Given the description of an element on the screen output the (x, y) to click on. 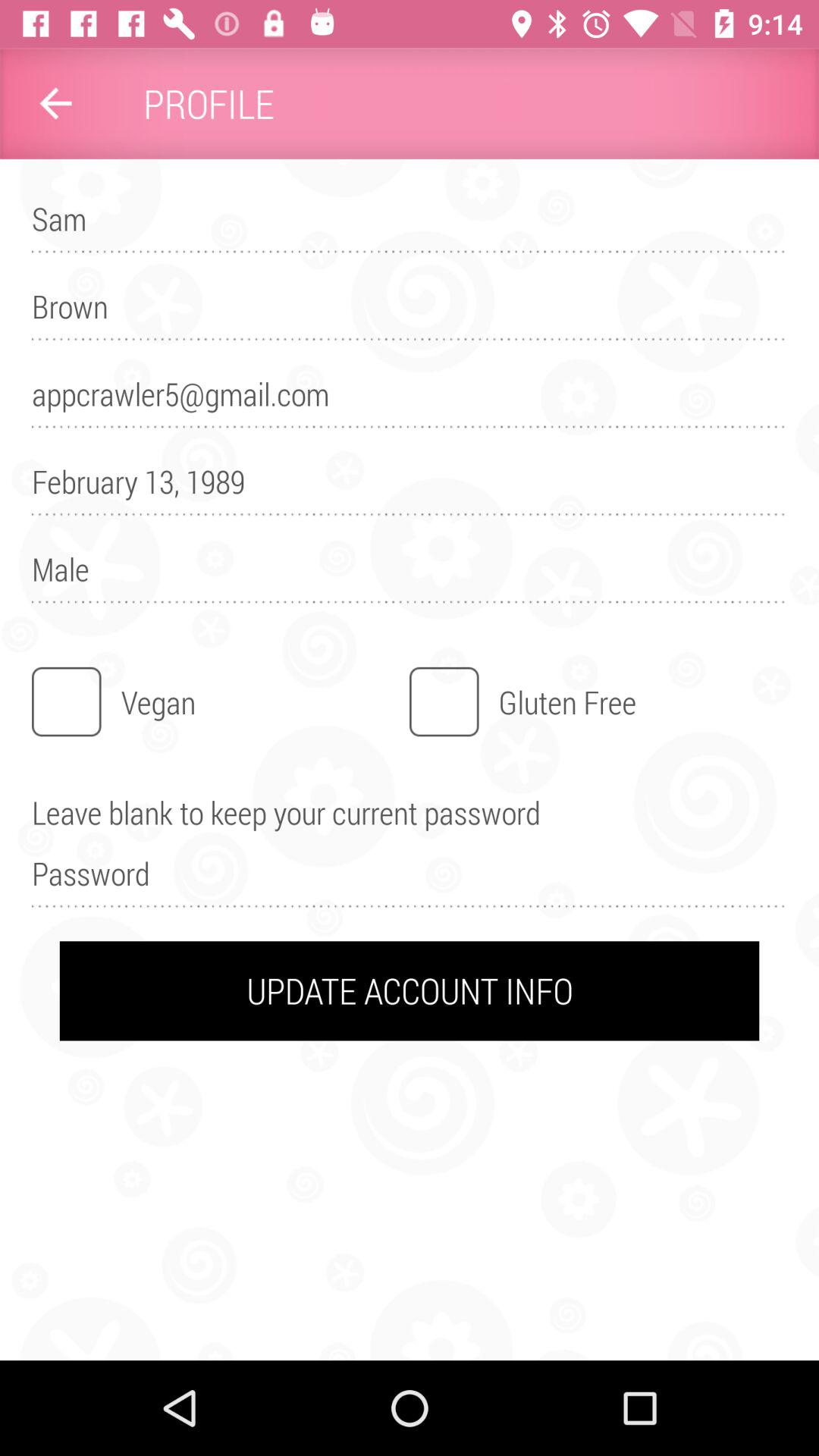
press item below the brown item (409, 400)
